Given the description of an element on the screen output the (x, y) to click on. 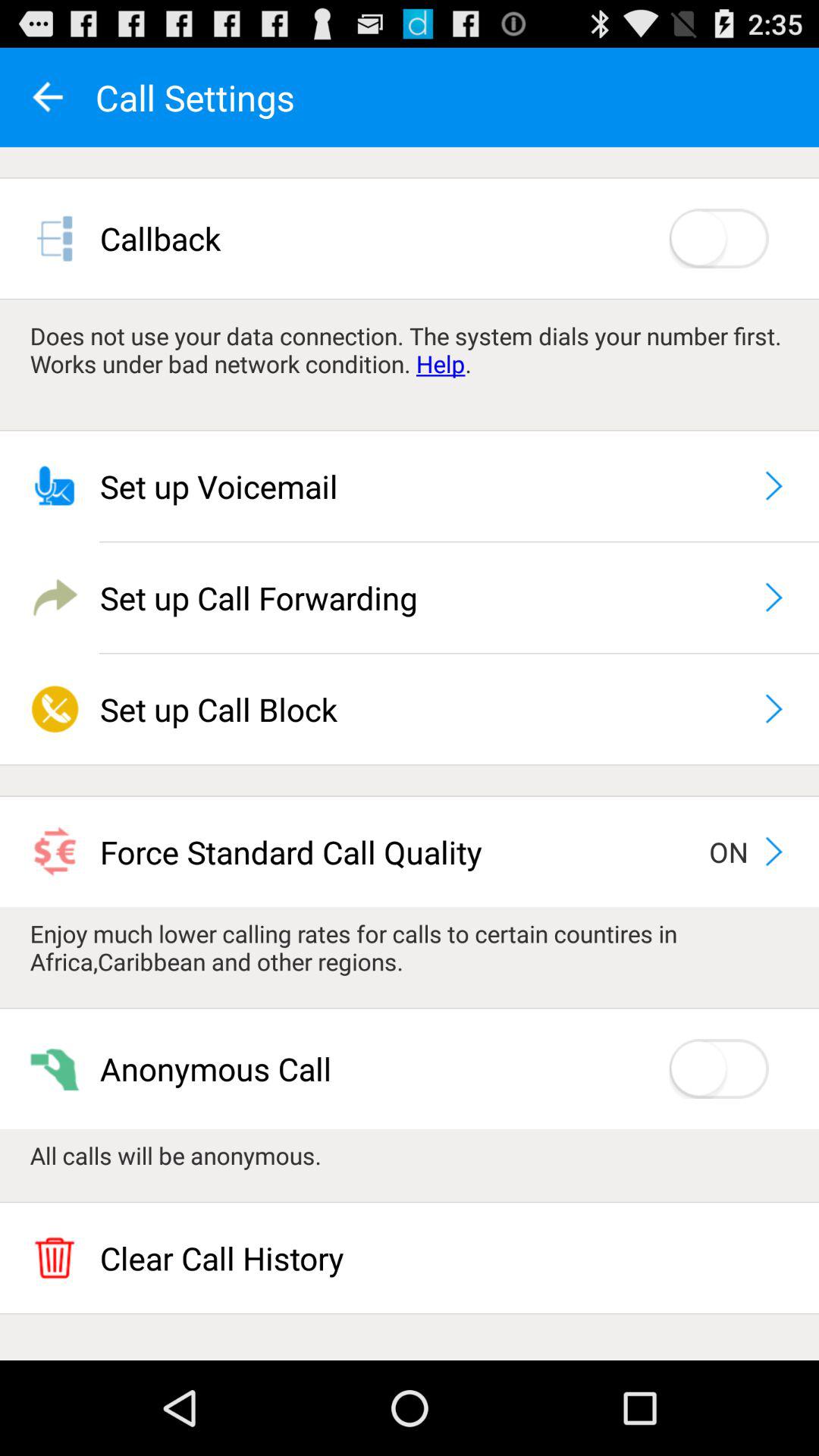
jump to the does not use (409, 349)
